Given the description of an element on the screen output the (x, y) to click on. 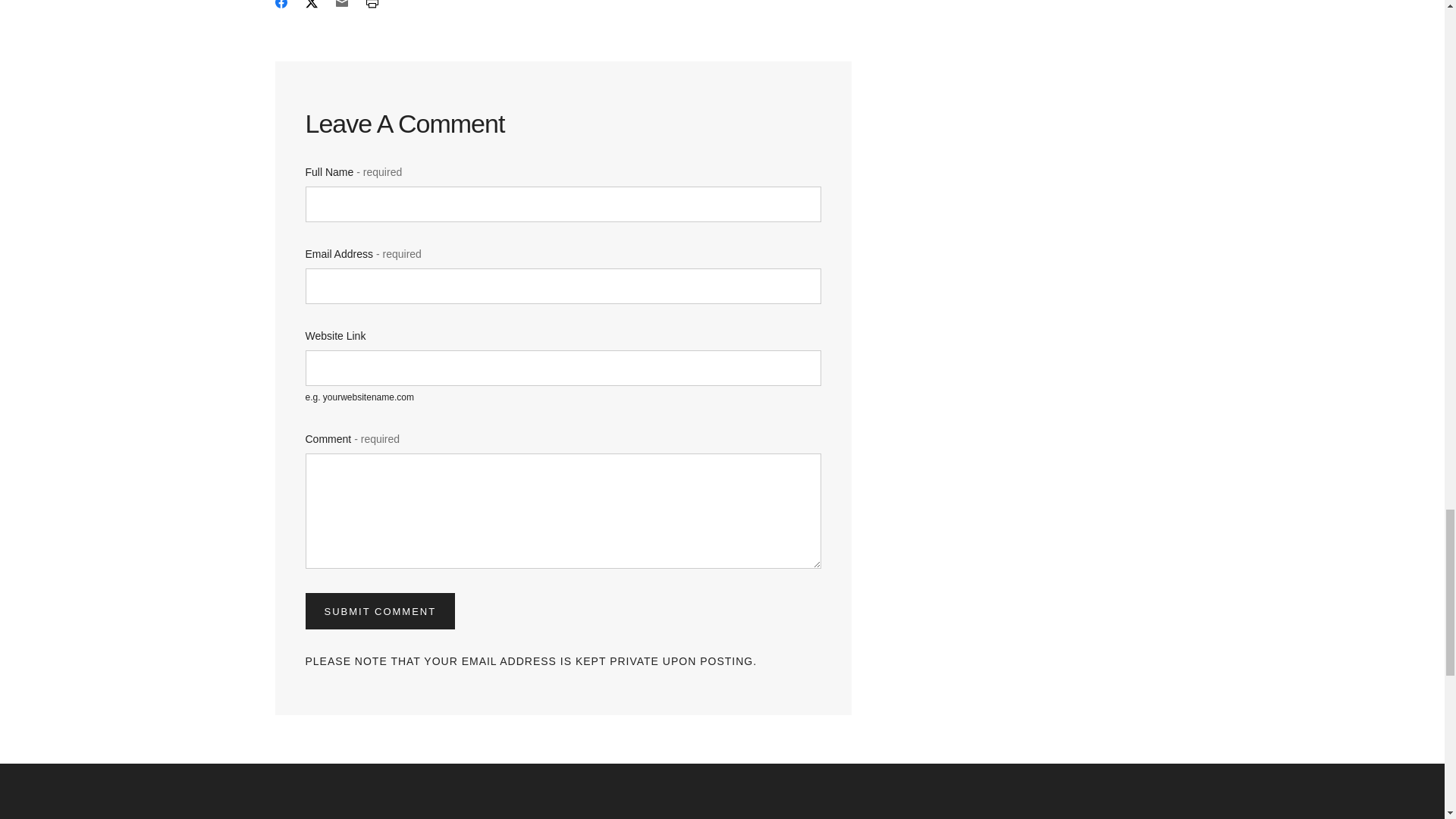
Tweet this post on Twitter (310, 6)
Share this post on Facebook (280, 6)
Opens new window with print ready page (371, 6)
Send a link to post via Email (340, 6)
